Given the description of an element on the screen output the (x, y) to click on. 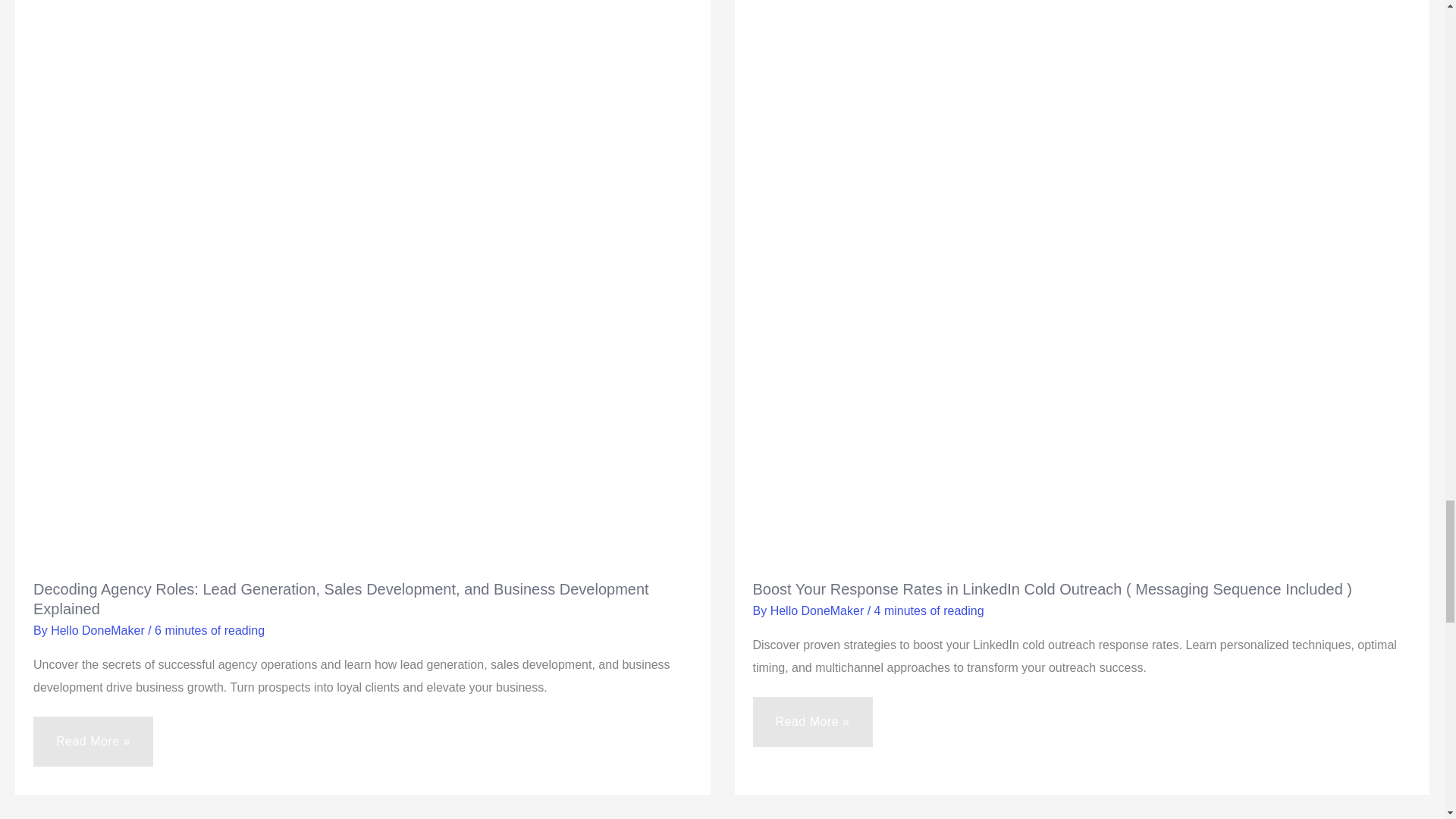
View all posts by Hello DoneMaker (99, 630)
Hello DoneMaker (818, 610)
Hello DoneMaker (99, 630)
View all posts by Hello DoneMaker (818, 610)
